Given the description of an element on the screen output the (x, y) to click on. 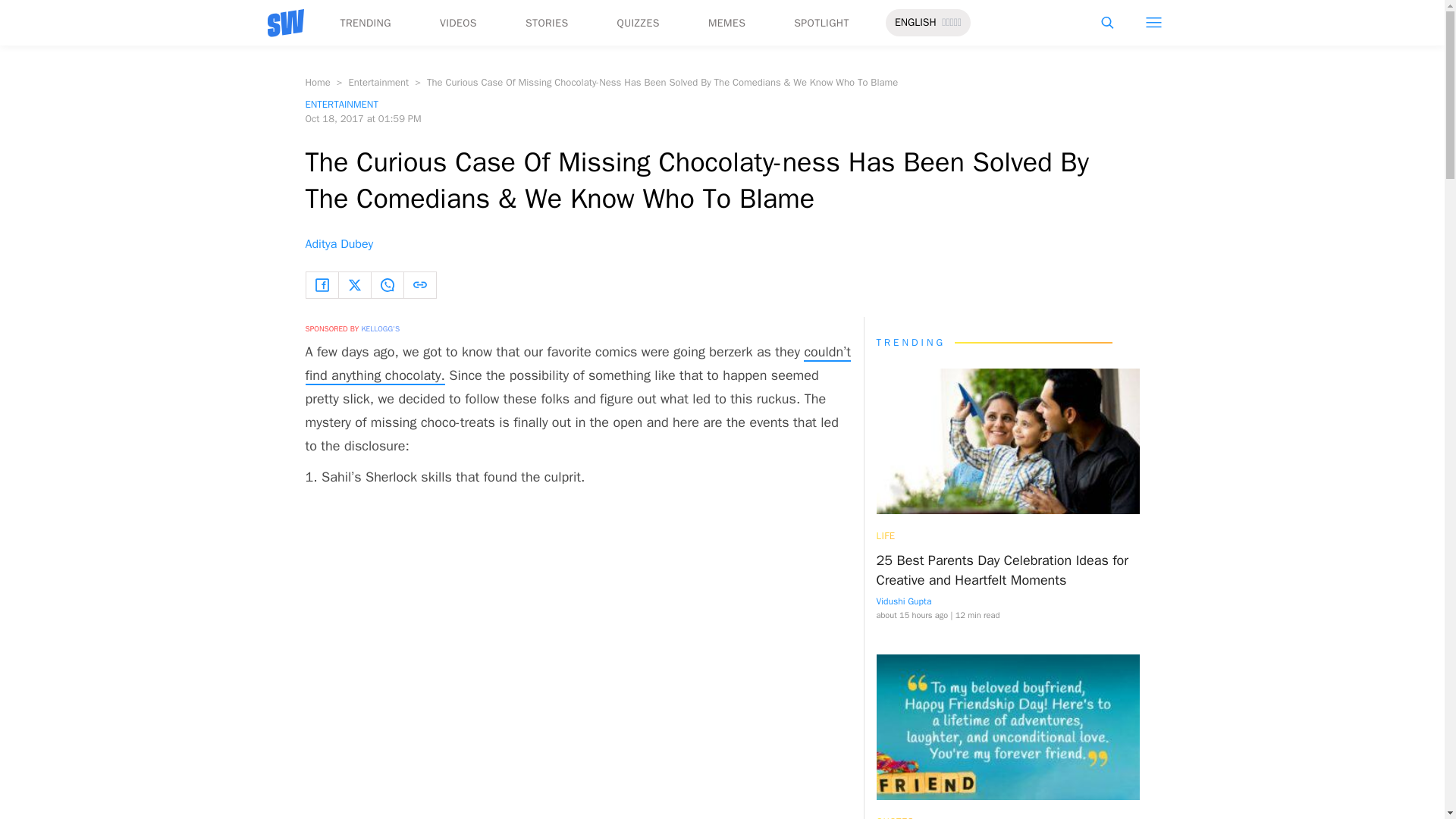
VIDEOS (458, 22)
QUIZZES (638, 22)
TRENDING (364, 22)
SPOTLIGHT (820, 22)
ENGLISH (915, 22)
STORIES (547, 22)
MEMES (726, 22)
